Given the description of an element on the screen output the (x, y) to click on. 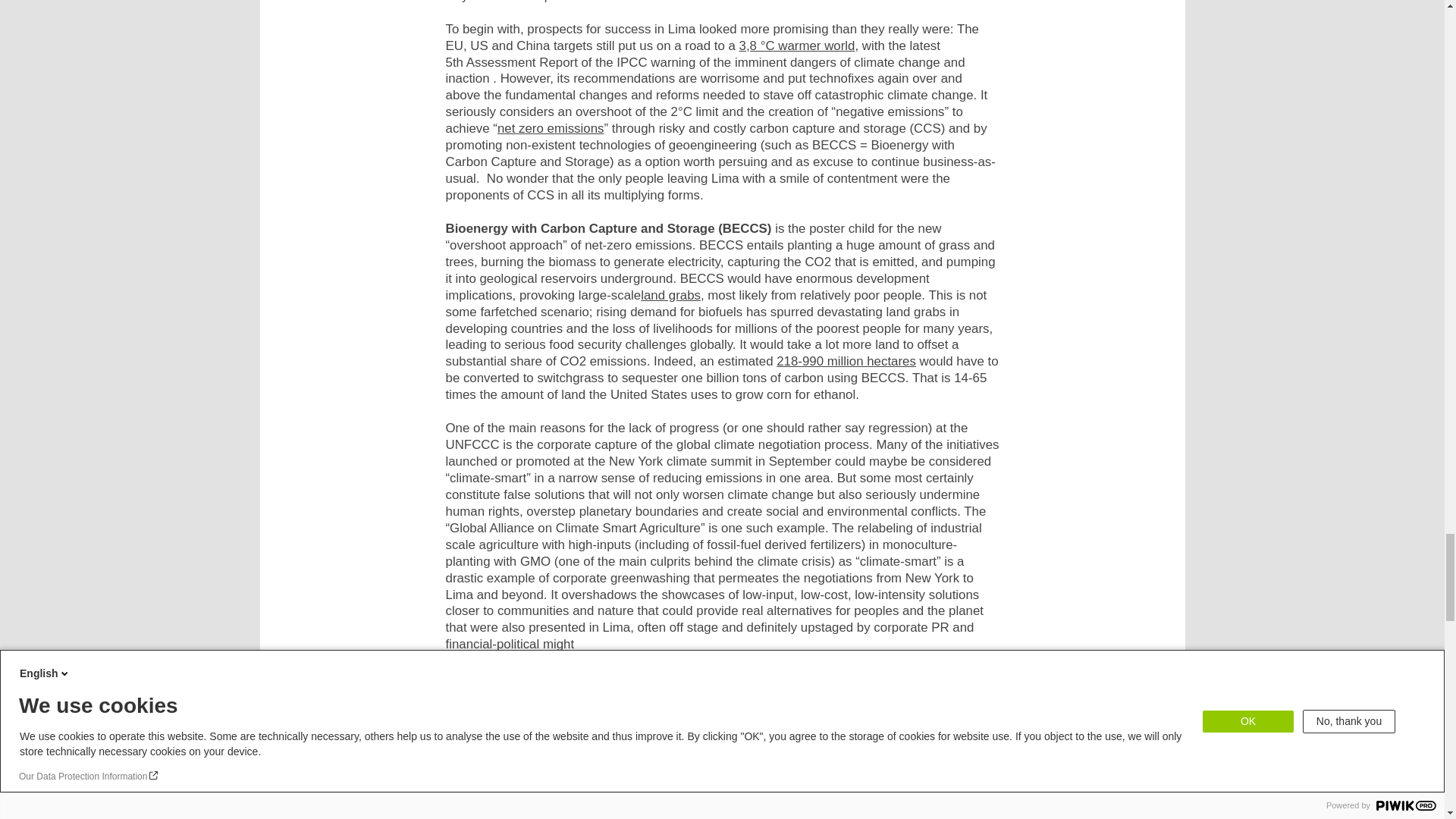
218-990 million hectares (845, 360)
land grabs (670, 295)
net zero emissions (550, 128)
